Given the description of an element on the screen output the (x, y) to click on. 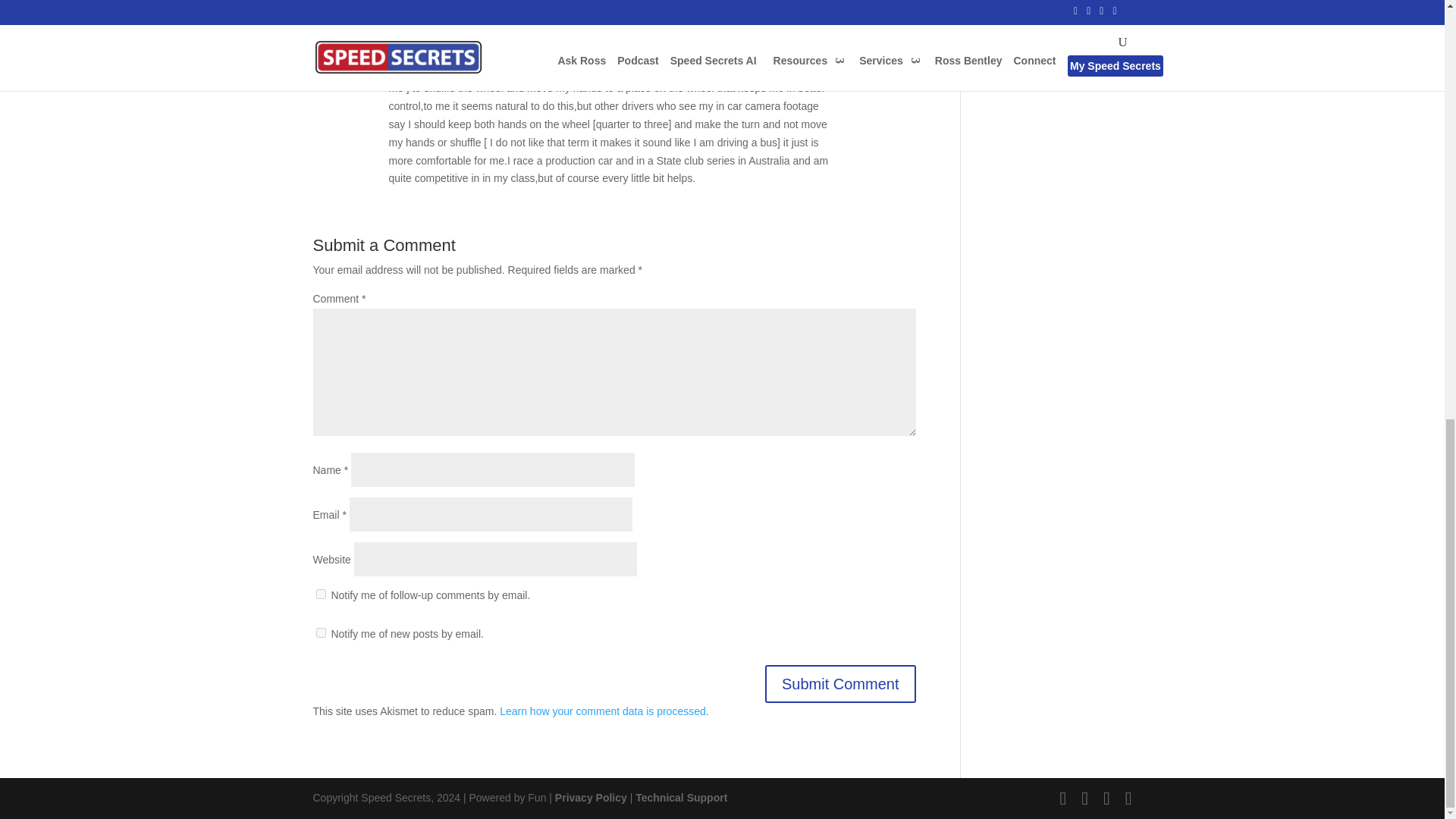
Submit Comment (840, 683)
Learn how your comment data is processed (602, 711)
subscribe (319, 633)
Reply (879, 61)
subscribe (319, 593)
Submit Comment (840, 683)
